Given the description of an element on the screen output the (x, y) to click on. 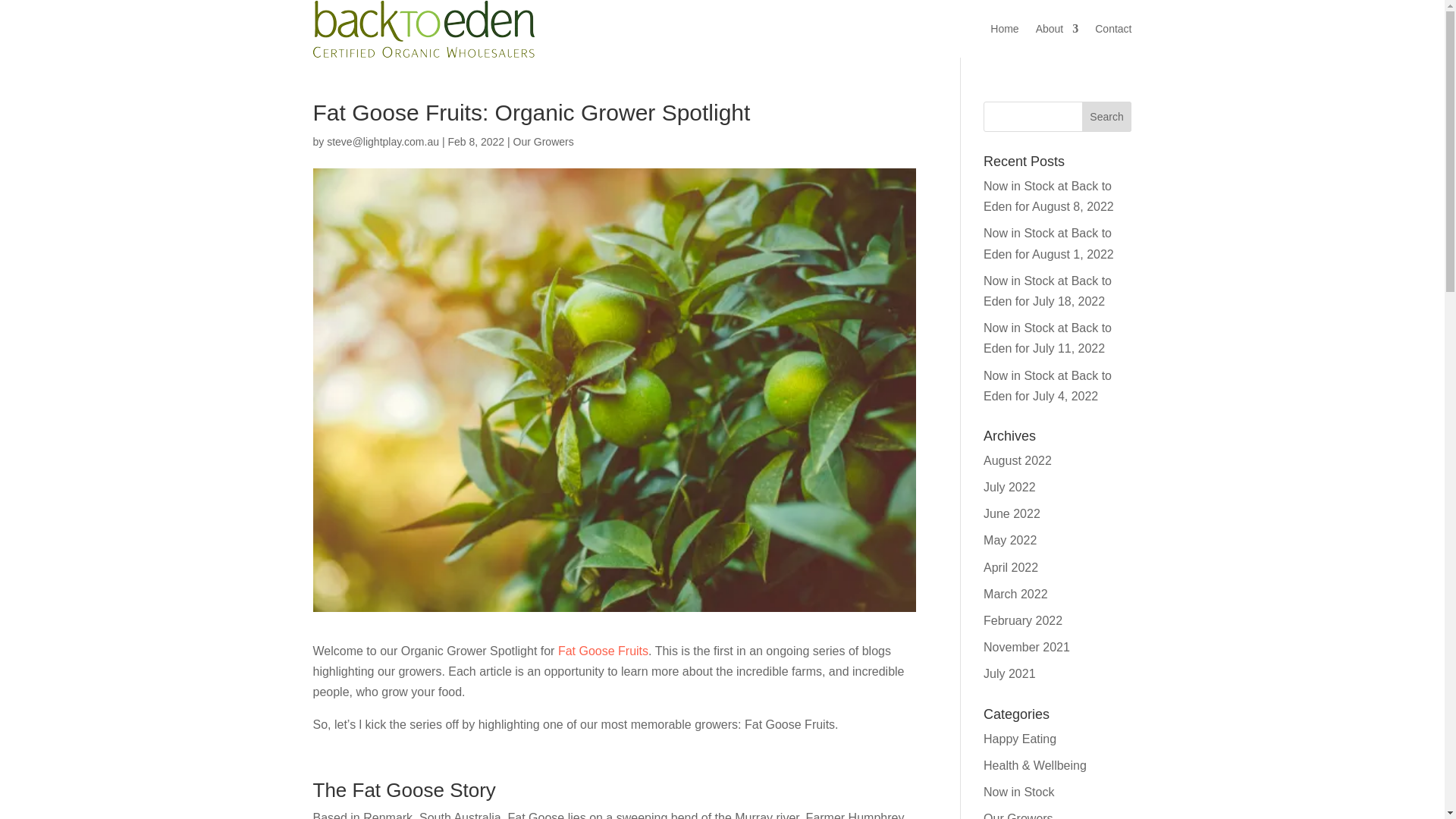
March 2022 (1016, 594)
Search (1106, 116)
Now in Stock at Back to Eden for August 8, 2022 (1048, 195)
July 2021 (1009, 673)
Our Growers (543, 141)
Now in Stock at Back to Eden for July 11, 2022 (1048, 337)
Now in Stock at Back to Eden for July 4, 2022 (1048, 385)
Now in Stock at Back to Eden for July 18, 2022 (1048, 290)
July 2022 (1009, 486)
February 2022 (1023, 620)
